Given the description of an element on the screen output the (x, y) to click on. 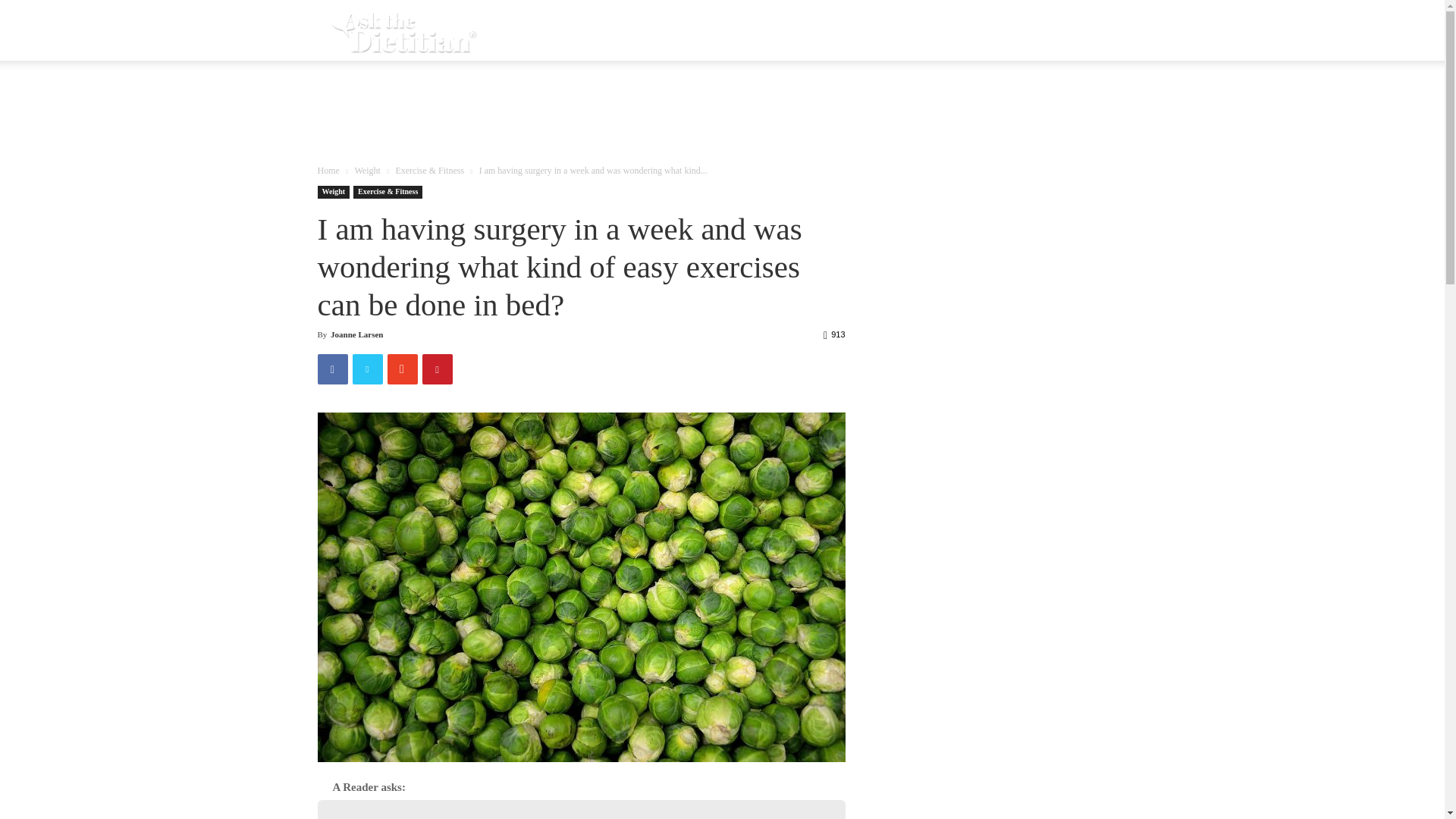
View all posts in Weight (366, 170)
